Given the description of an element on the screen output the (x, y) to click on. 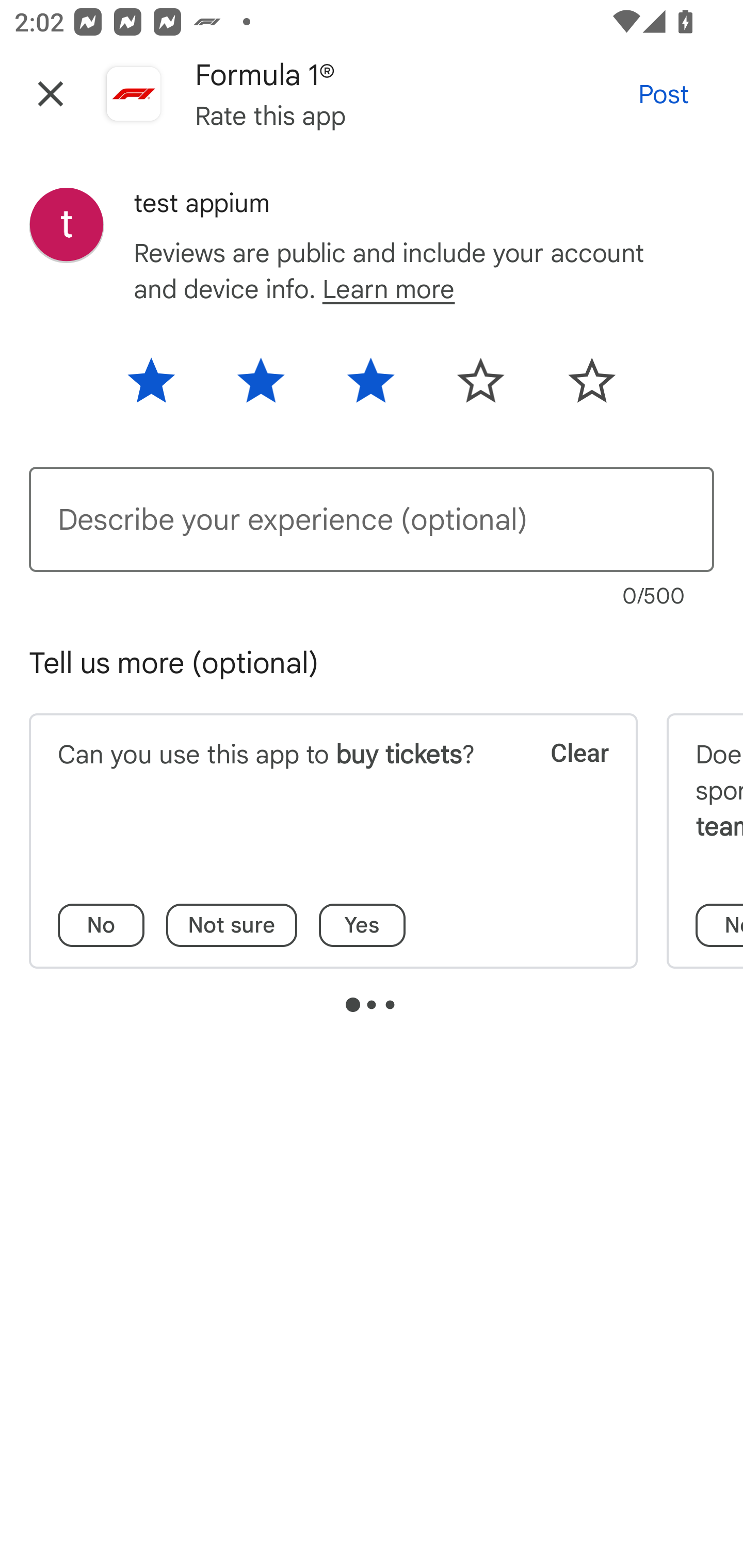
Close (50, 93)
Post (663, 93)
First star selected (163, 387)
Second star selected (260, 387)
Third star selected (370, 387)
Fourth star unselected (480, 387)
Fifth star unselected (577, 387)
Describe your experience (optional) (371, 519)
Clear (565, 778)
No (100, 925)
Not sure (231, 925)
Yes (361, 925)
